Given the description of an element on the screen output the (x, y) to click on. 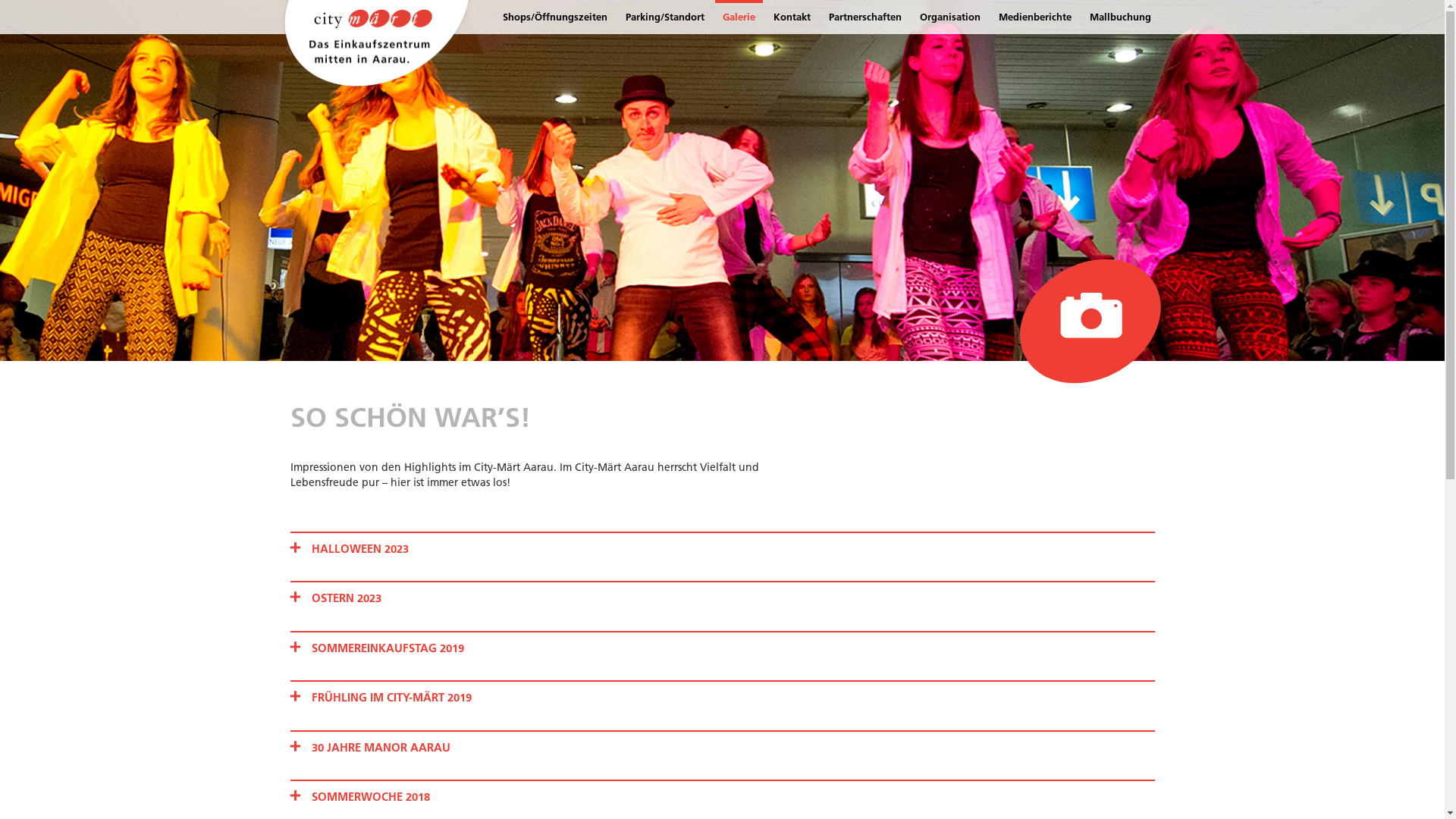
Mallbuchung Element type: text (1119, 16)
Medienberichte Element type: text (1034, 16)
Kontakt Element type: text (791, 16)
Partnerschaften Element type: text (864, 16)
Parking/Standort Element type: text (664, 16)
Organisation Element type: text (949, 16)
Galerie Element type: text (738, 16)
